Given the description of an element on the screen output the (x, y) to click on. 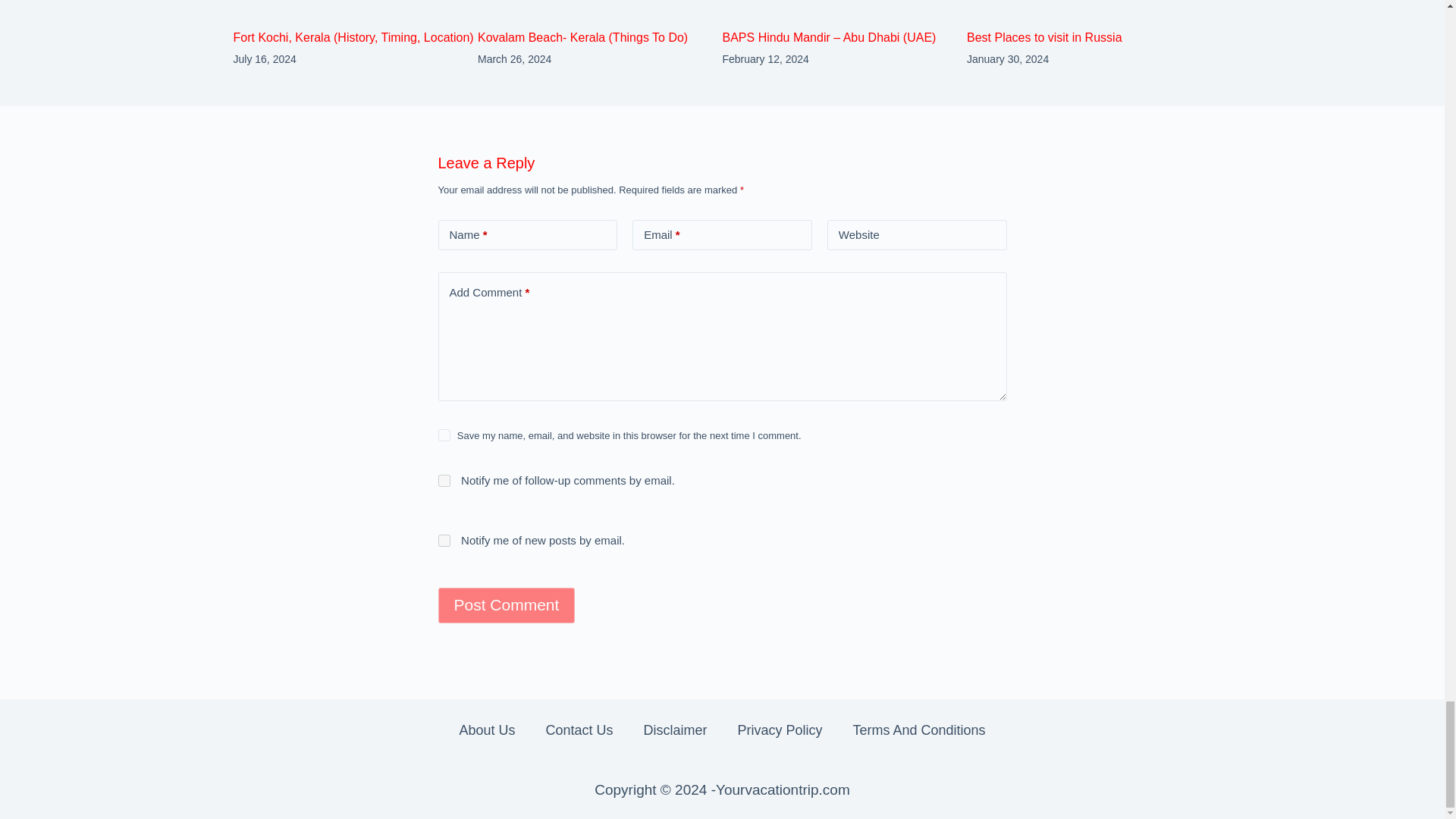
yes (443, 435)
subscribe (443, 540)
subscribe (443, 480)
